Given the description of an element on the screen output the (x, y) to click on. 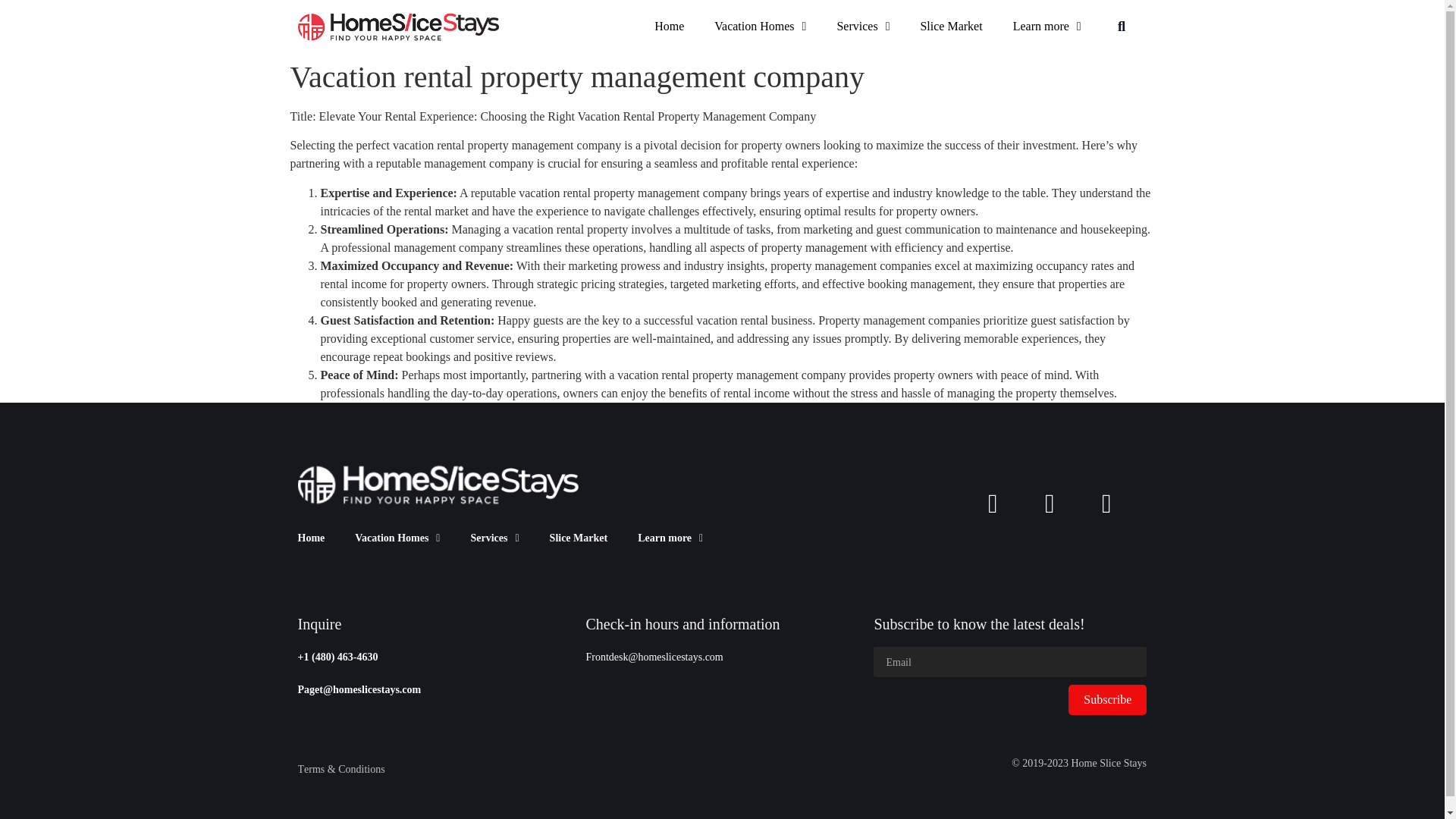
Home (668, 26)
Slice Market (578, 538)
Vacation Homes (396, 538)
Learn more (1046, 26)
Services (494, 538)
Services (862, 26)
Vacation Homes (759, 26)
Slice Market (950, 26)
Home (310, 538)
